Given the description of an element on the screen output the (x, y) to click on. 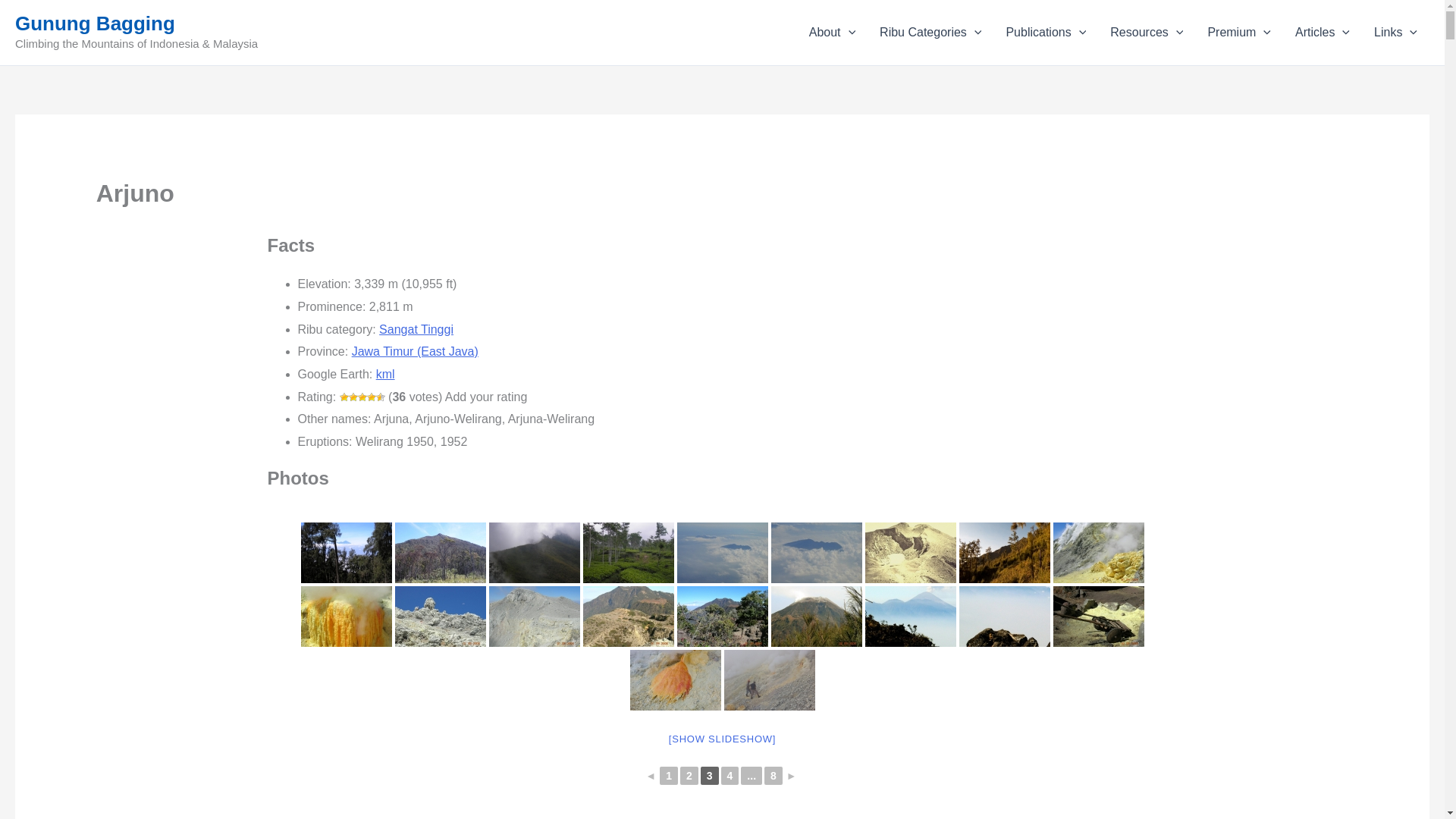
Gunung Bagging (94, 23)
3 Stars (362, 397)
4 Stars (370, 397)
Resources (1146, 32)
About (831, 32)
1 Star (344, 397)
5 Stars (380, 397)
Premium (1238, 32)
Ribu Categories (929, 32)
Publications (1044, 32)
